Given the description of an element on the screen output the (x, y) to click on. 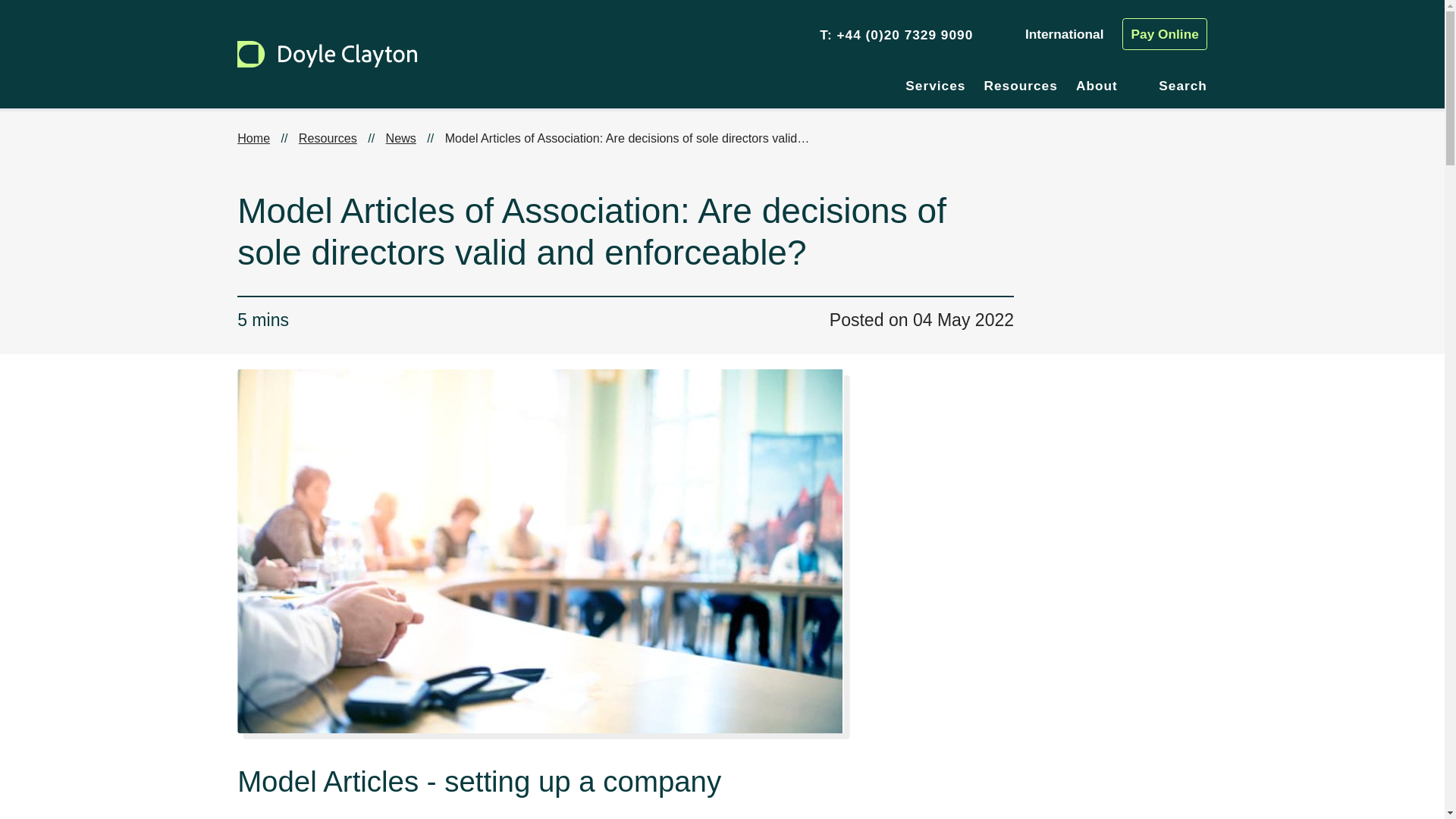
International (1050, 34)
Pay Online (1164, 33)
Doyle Clayton (326, 54)
Telephone Doyle Clayton (903, 34)
Services (935, 85)
Pay Online (1164, 33)
Services (935, 85)
International (1050, 34)
